Given the description of an element on the screen output the (x, y) to click on. 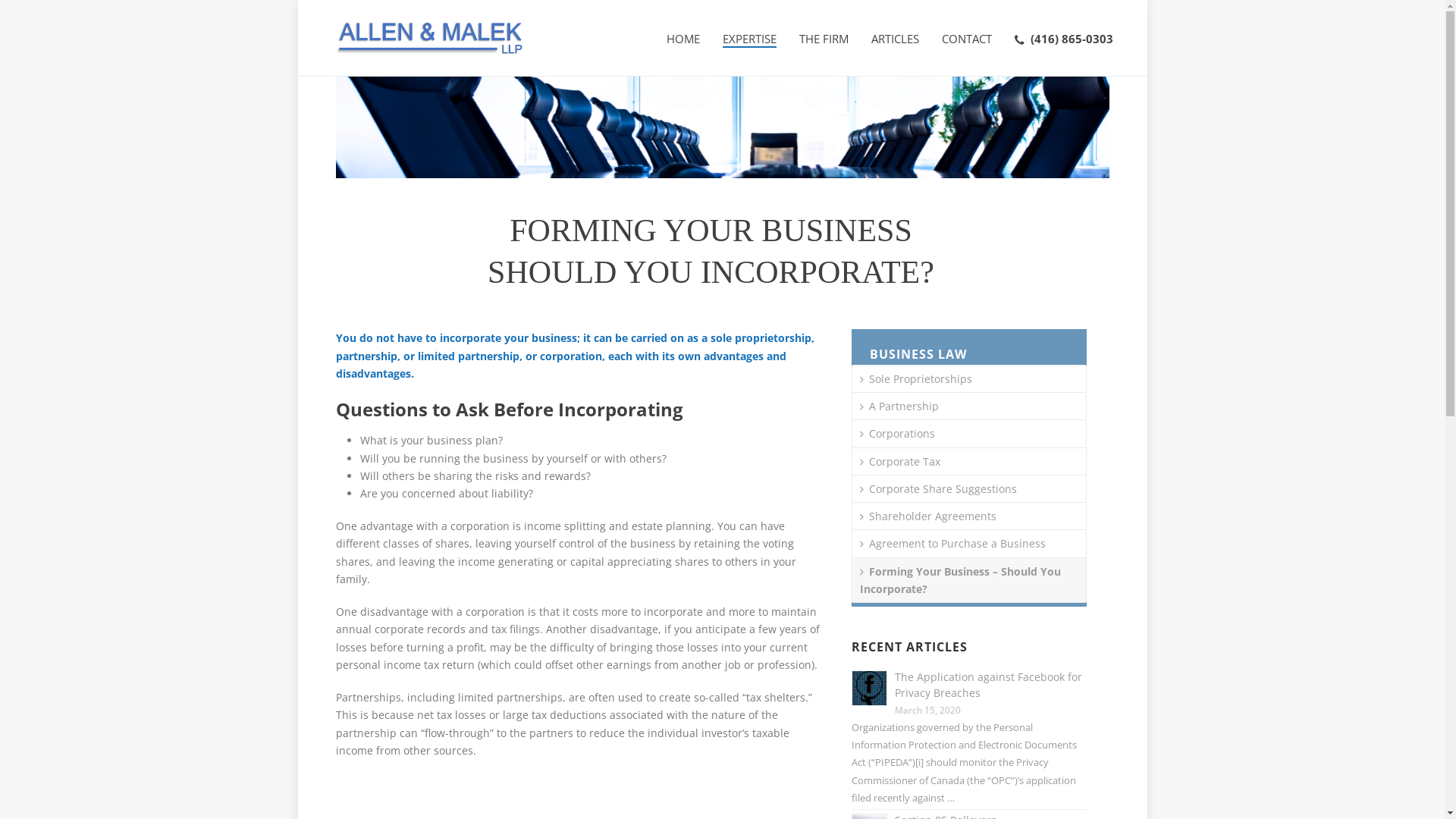
The Application against Facebook for Privacy Breaches Element type: text (988, 684)
A Partnership Element type: text (899, 405)
(416) 865-0303 Element type: text (1063, 38)
CONTACT Element type: text (966, 38)
Sole Proprietorships Element type: text (915, 378)
THE FIRM Element type: text (823, 38)
Barristers and Solicitors Element type: hover (429, 37)
Corporations Element type: text (897, 433)
Corporate Share Suggestions Element type: text (938, 488)
Shareholder Agreements Element type: text (928, 515)
Corporate Tax Element type: text (899, 461)
EXPERTISE Element type: text (749, 38)
ARTICLES Element type: text (894, 38)
Agreement to Purchase a Business Element type: text (952, 543)
HOME Element type: text (683, 38)
